Given the description of an element on the screen output the (x, y) to click on. 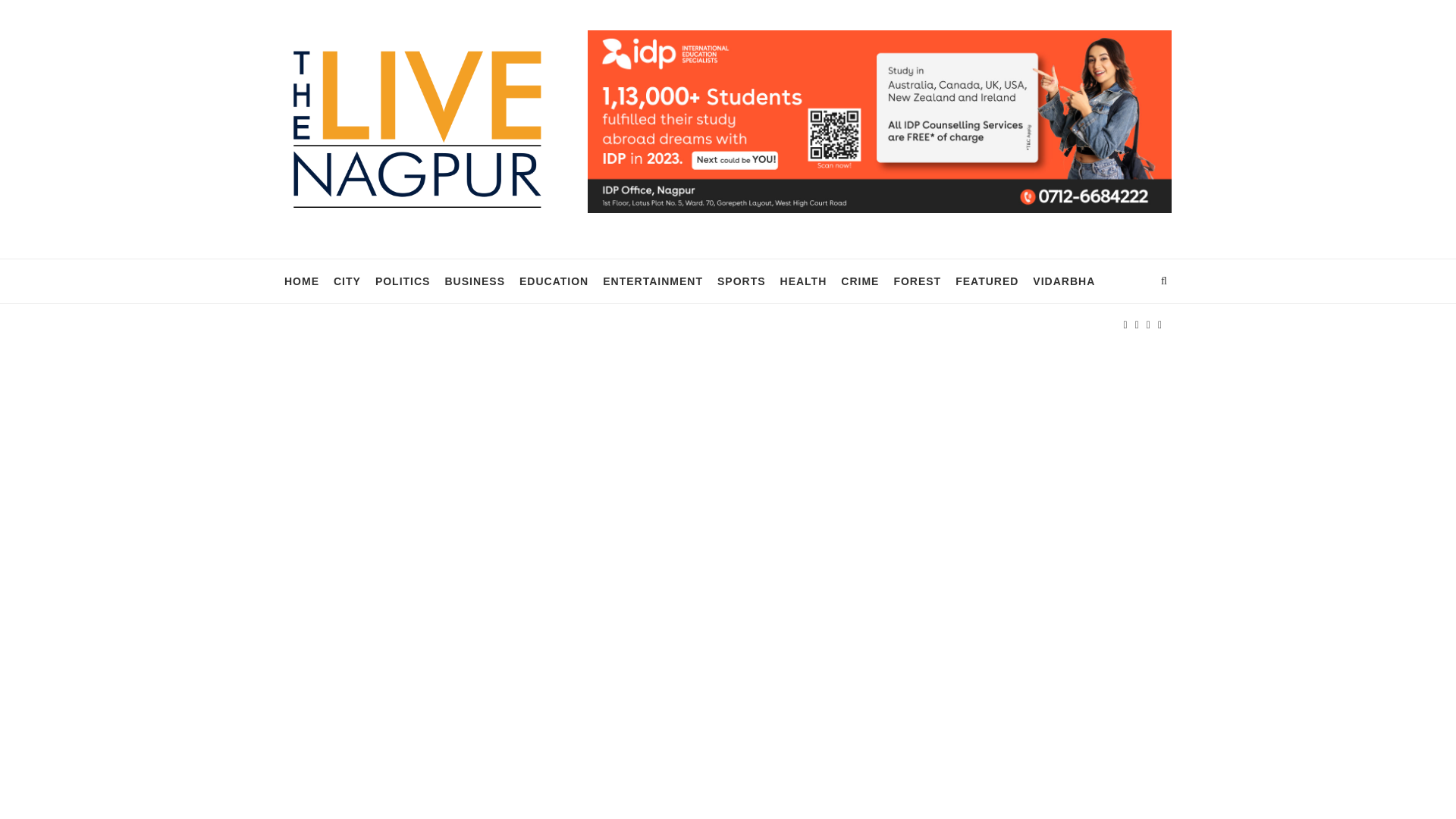
SPORTS (741, 281)
BUSINESS (474, 281)
ENTERTAINMENT (652, 281)
FOREST (916, 281)
VIDARBHA (1063, 281)
EDUCATION (553, 281)
POLITICS (402, 281)
HEALTH (803, 281)
FEATURED (986, 281)
